Given the description of an element on the screen output the (x, y) to click on. 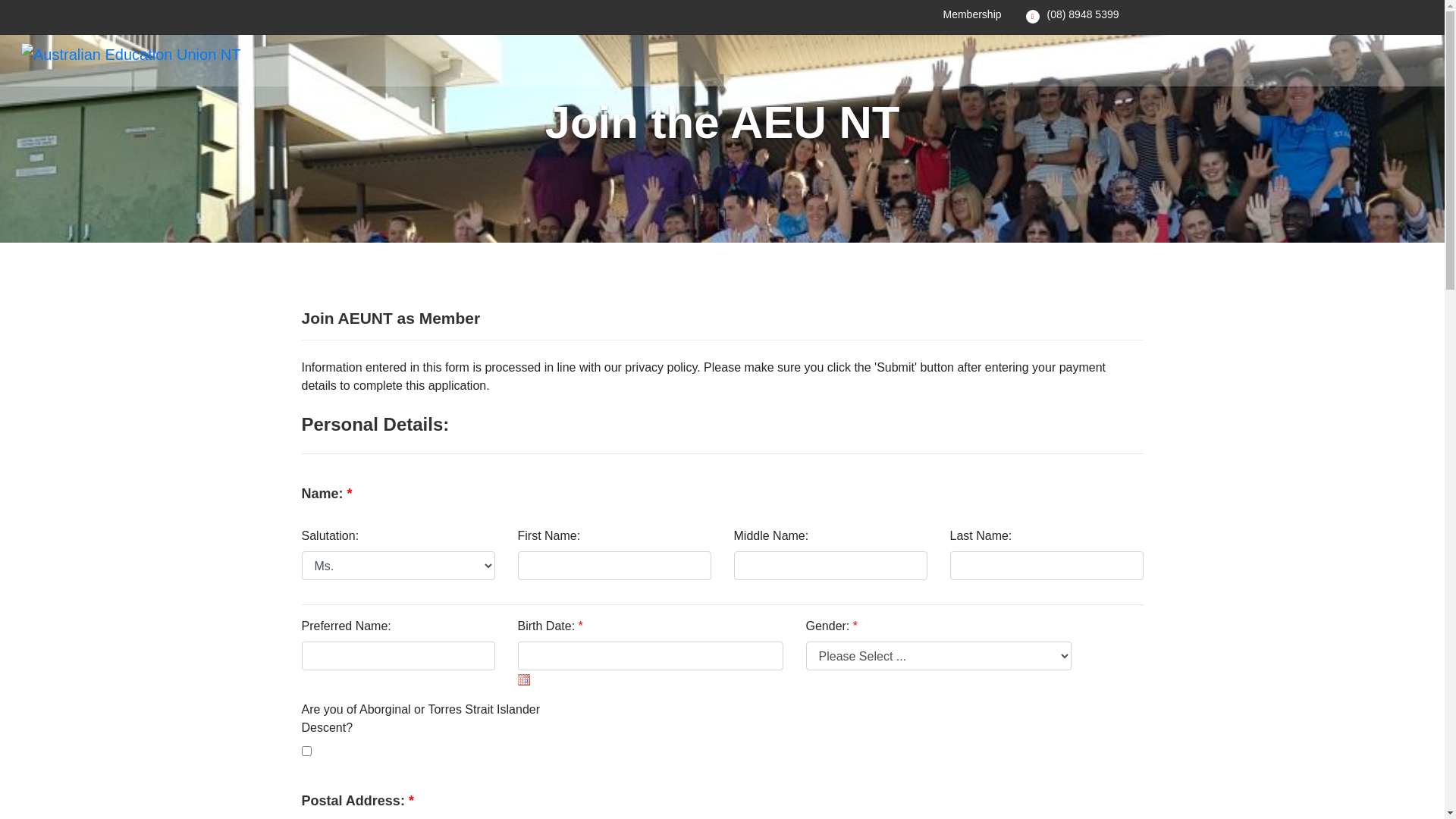
(08) 8948 5399 Element type: text (1083, 14)
Membership Element type: text (972, 14)
Skip to content Element type: text (0, 0)
Australian Education Union NT Element type: hover (130, 54)
Select date Element type: hover (523, 679)
